Given the description of an element on the screen output the (x, y) to click on. 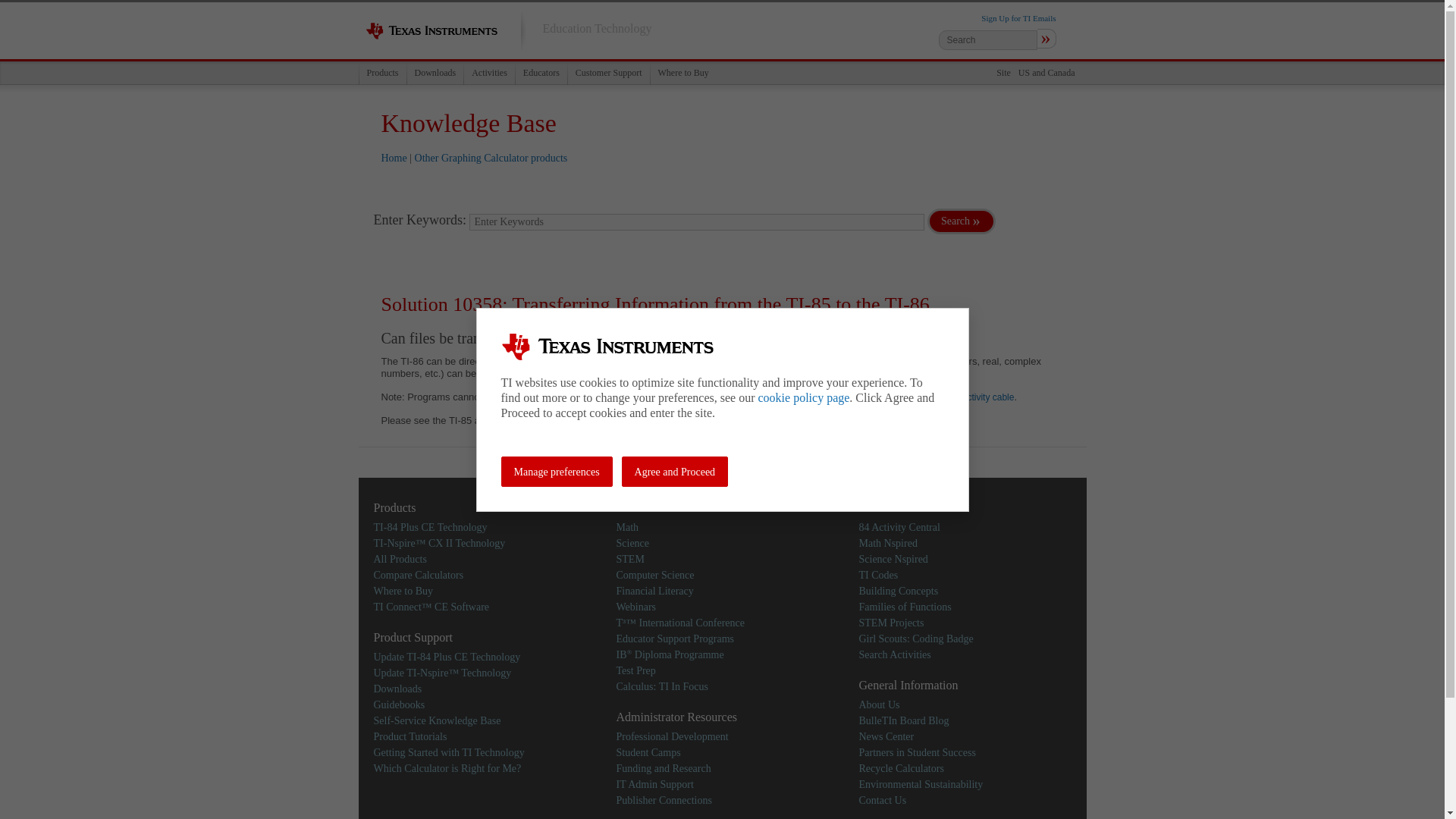
All Products (399, 559)
Compare Calculators (417, 573)
Self-Service Knowledge Base  (436, 719)
Update TI-Nspire Technology (441, 672)
Sign Up for TI Emails (1018, 17)
Update TI-84 Plus CE Technology (445, 655)
Getting Started with TI Technology (448, 751)
TI-84 Plus CE Technology (429, 527)
Products (382, 73)
Guidebooks (398, 704)
Which Calculator is Right for Me? (446, 767)
TI Connect CE Software (430, 605)
Downloads (435, 73)
Where to Buy (402, 591)
Math (627, 527)
